Given the description of an element on the screen output the (x, y) to click on. 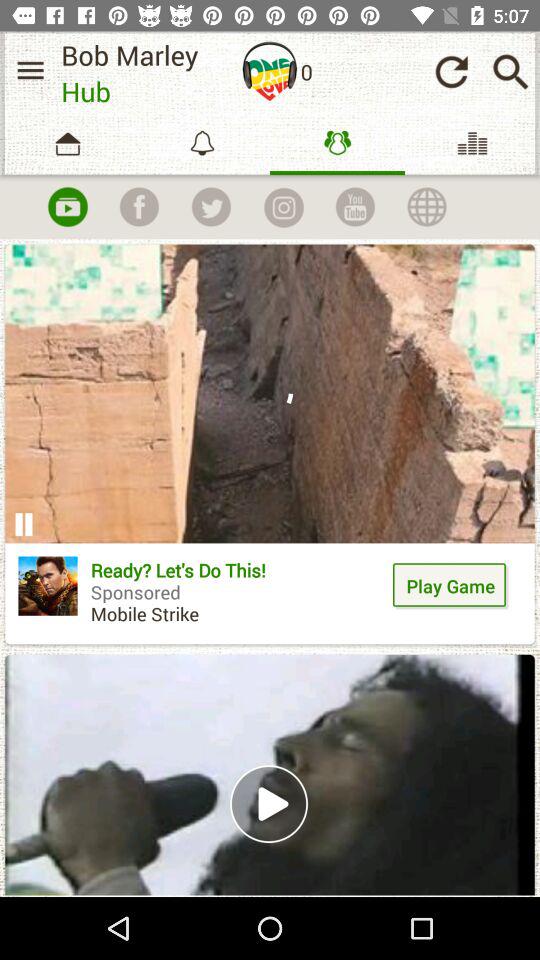
open search bar (510, 71)
